Given the description of an element on the screen output the (x, y) to click on. 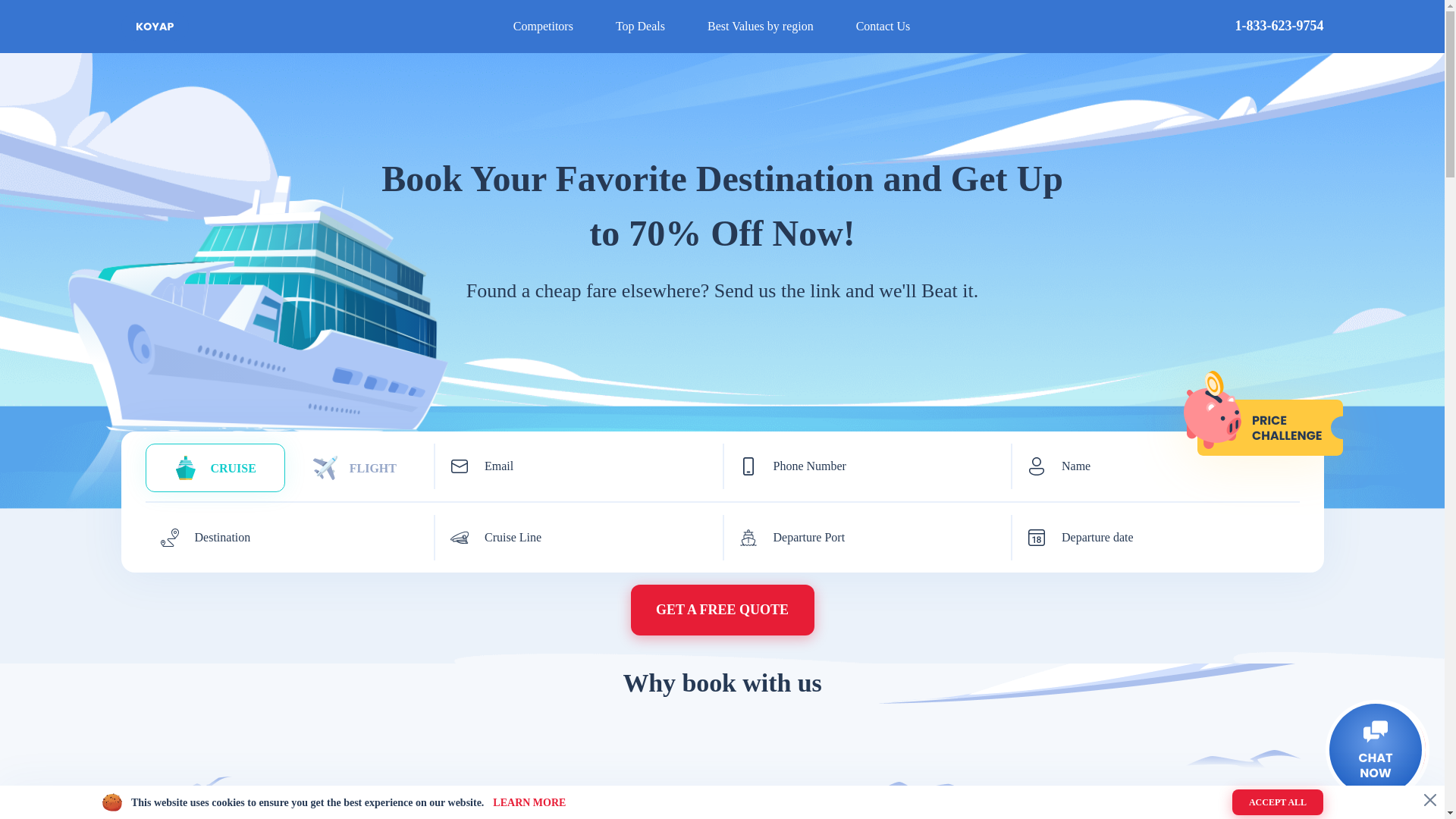
Chat now (1374, 750)
1-833-623-9754 (1278, 26)
GET A FREE QUOTE (721, 609)
ACCEPT ALL (1277, 801)
FLIGHT (355, 467)
Competitors (543, 25)
LEARN MORE (529, 801)
Top Deals (640, 25)
CRUISE (215, 467)
Contact Us (883, 25)
Best Values by region (760, 25)
